Given the description of an element on the screen output the (x, y) to click on. 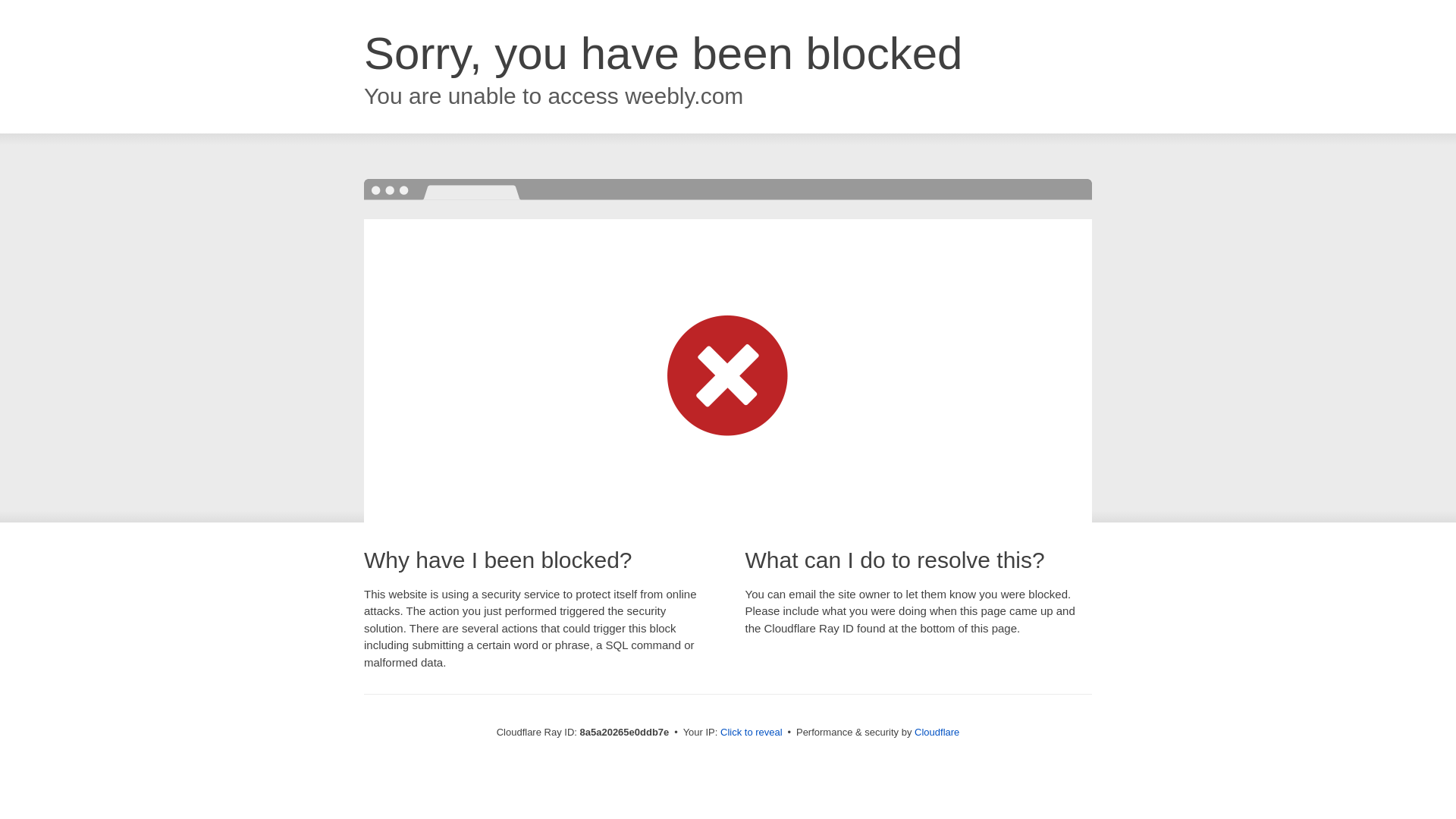
Click to reveal (751, 732)
Cloudflare (936, 731)
